Given the description of an element on the screen output the (x, y) to click on. 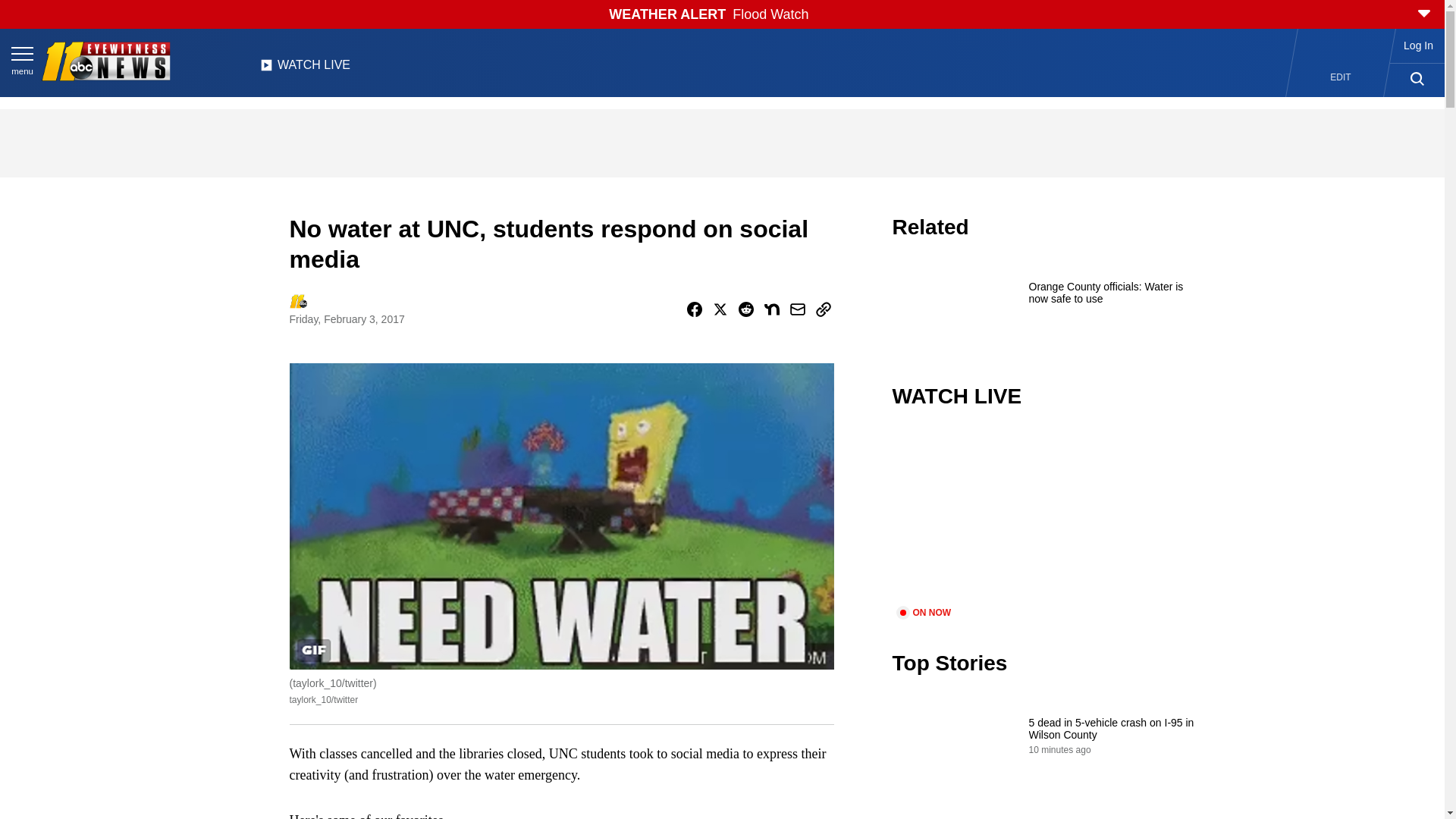
EDIT (1340, 77)
video.title (1043, 516)
WATCH LIVE (305, 69)
